Given the description of an element on the screen output the (x, y) to click on. 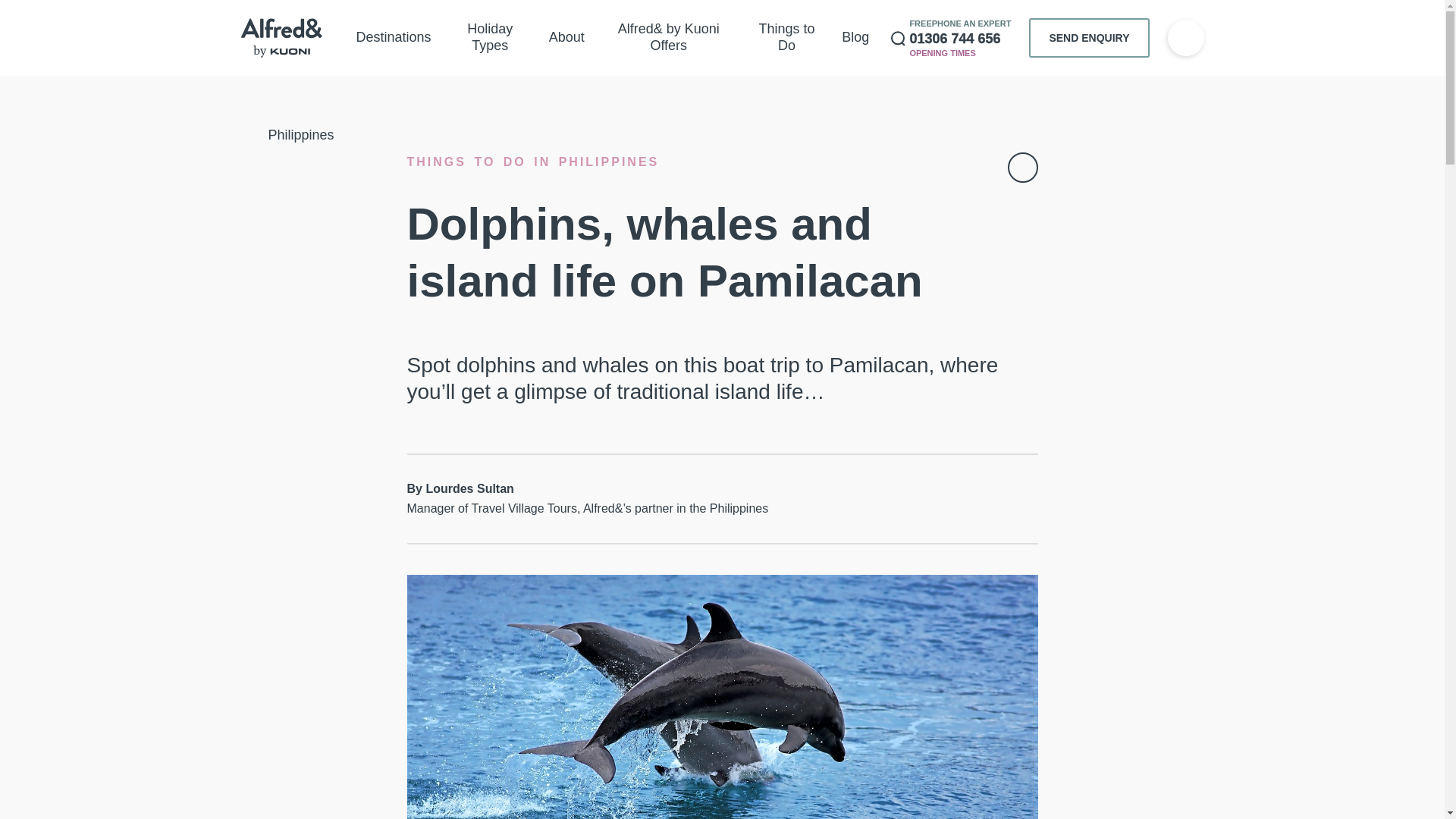
Add to favourites (1021, 167)
About (567, 37)
Back to Philippines's destination page (287, 135)
Blog (855, 37)
Destinations (393, 37)
OPENING TIMES (946, 52)
Likes (1185, 37)
Holiday Types (490, 37)
Things to Do (786, 37)
SEND ENQUIRY (1088, 37)
